Given the description of an element on the screen output the (x, y) to click on. 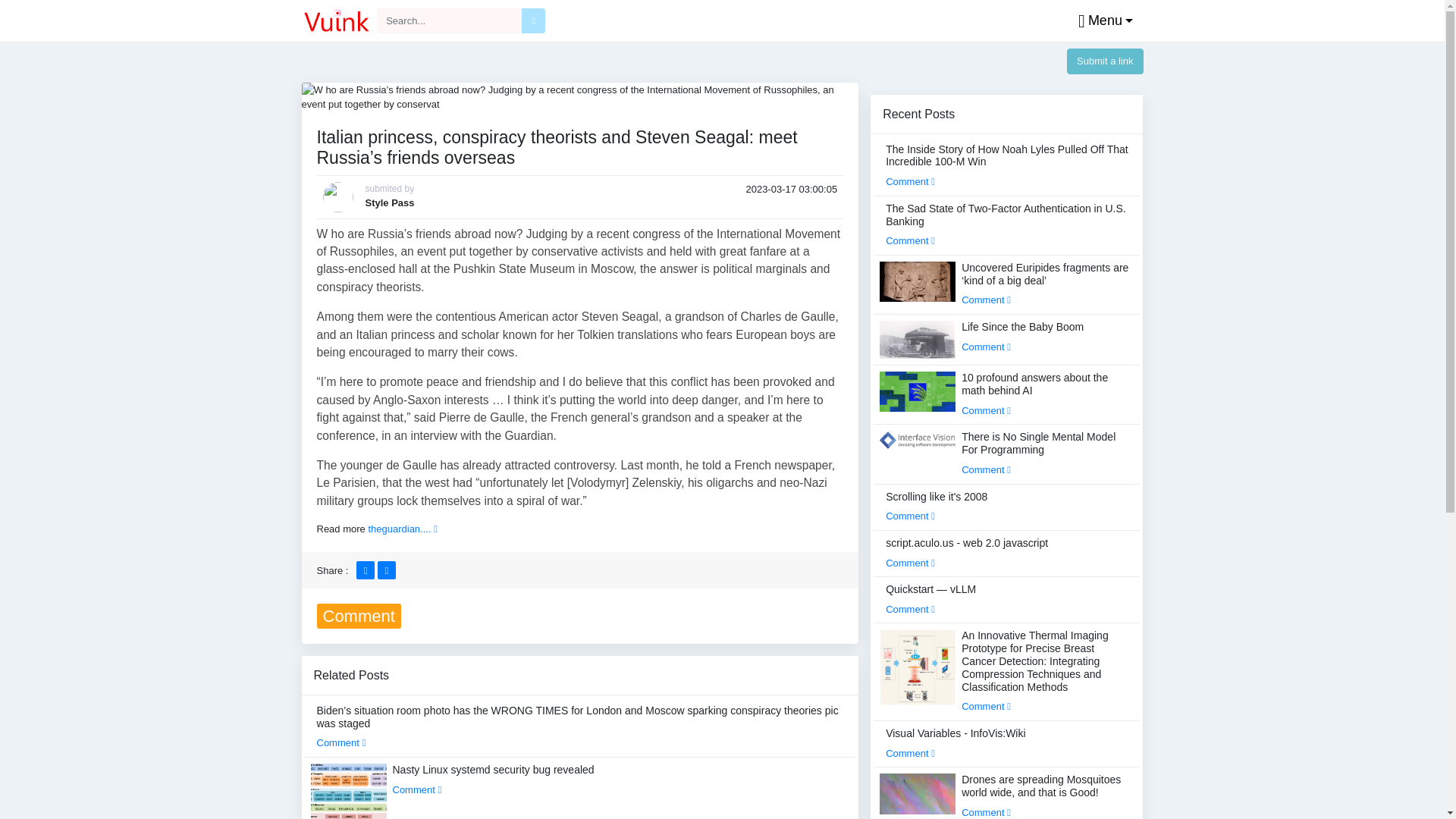
Comment (417, 789)
Menu (1101, 20)
Nasty Linux systemd security bug revealed (493, 779)
Submit a link (1104, 61)
theguardian.... (402, 528)
Comment (341, 742)
